Given the description of an element on the screen output the (x, y) to click on. 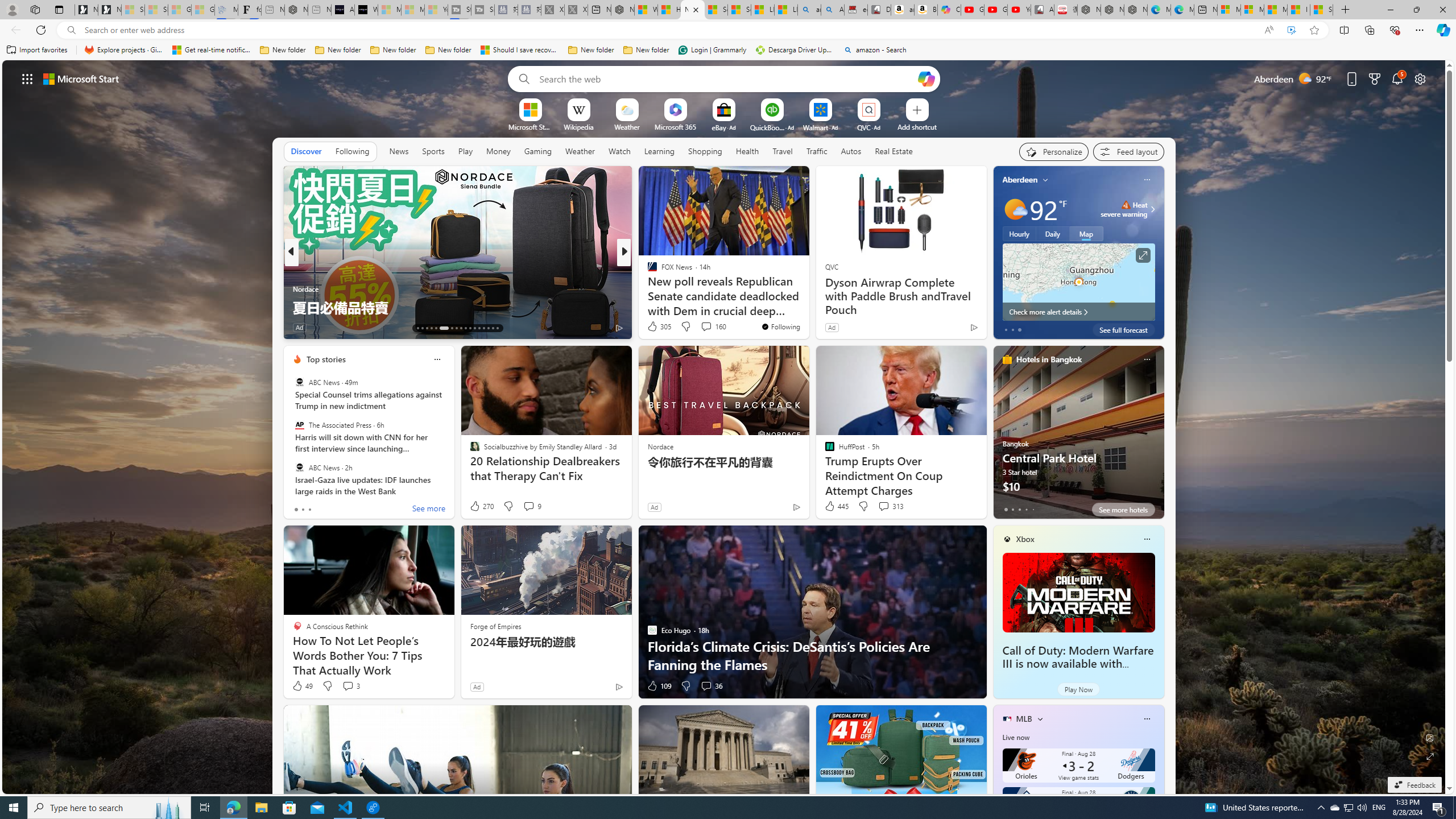
Dislike (685, 685)
previous (998, 252)
Daily (1052, 233)
AutomationID: tab-20 (456, 328)
